Given the description of an element on the screen output the (x, y) to click on. 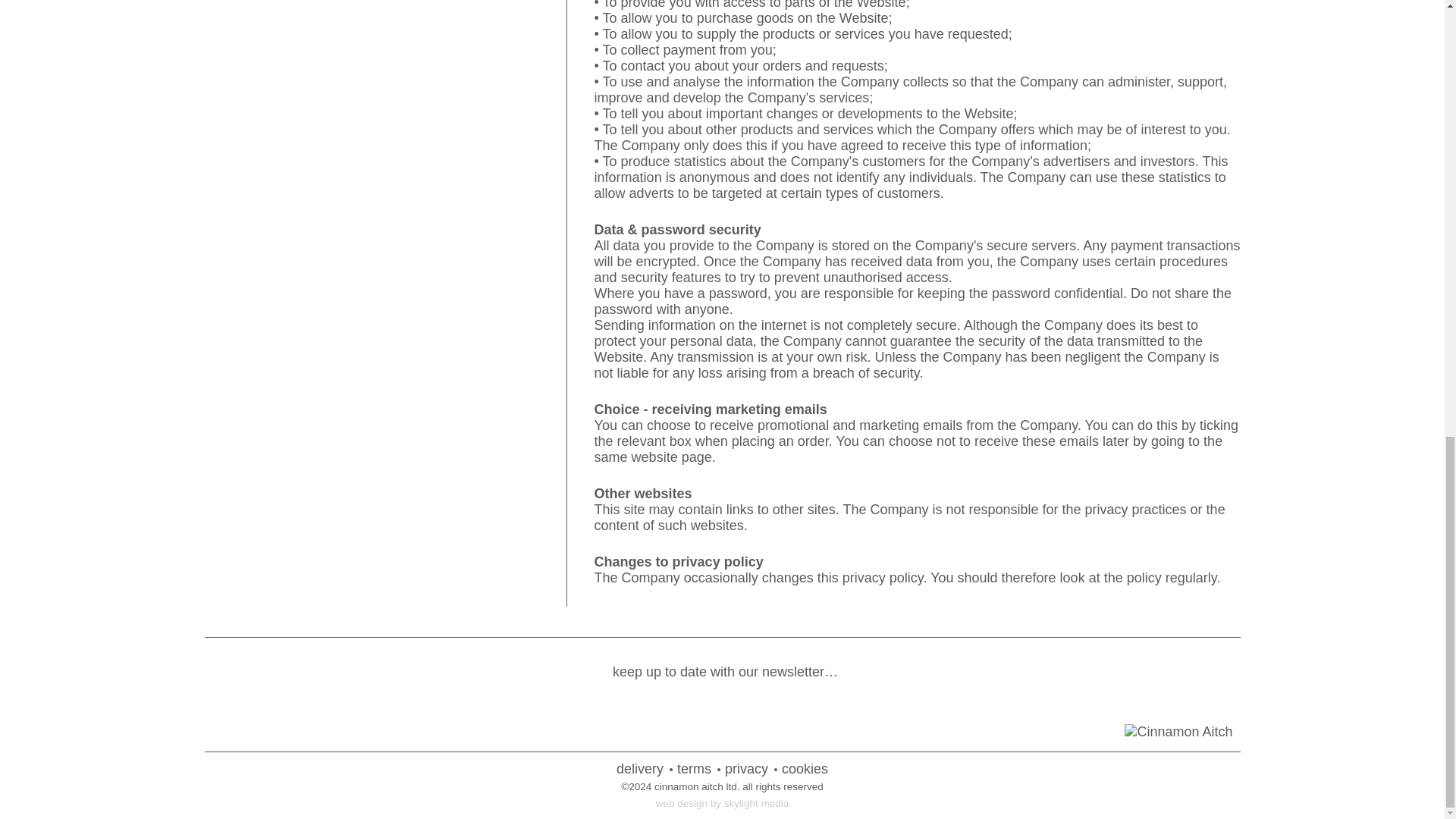
cookies (804, 768)
delivery (639, 768)
privacy (746, 768)
web design (681, 803)
skylight media (756, 803)
terms (694, 768)
